Given the description of an element on the screen output the (x, y) to click on. 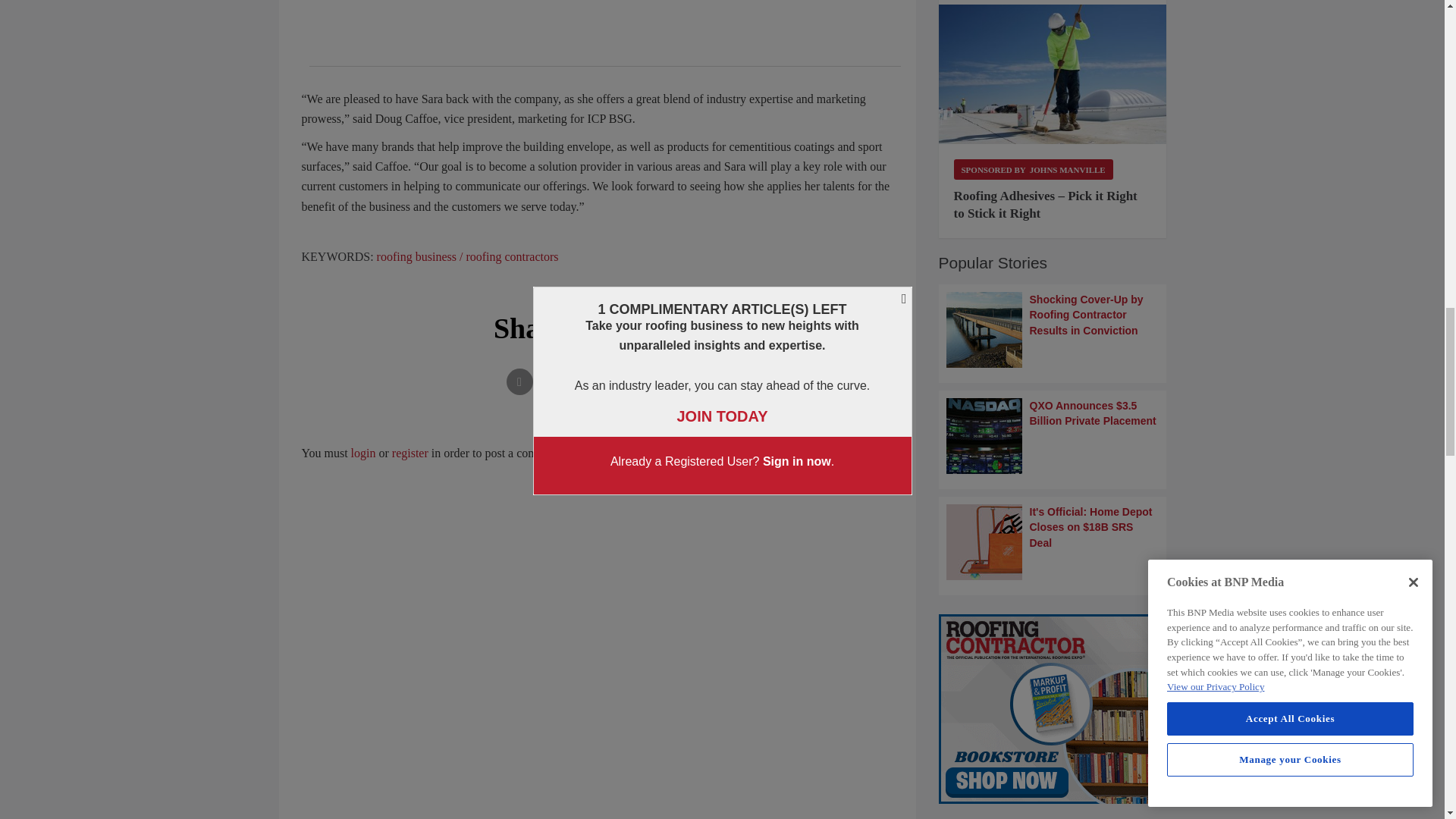
Sponsored by Johns Manville (1033, 168)
